Given the description of an element on the screen output the (x, y) to click on. 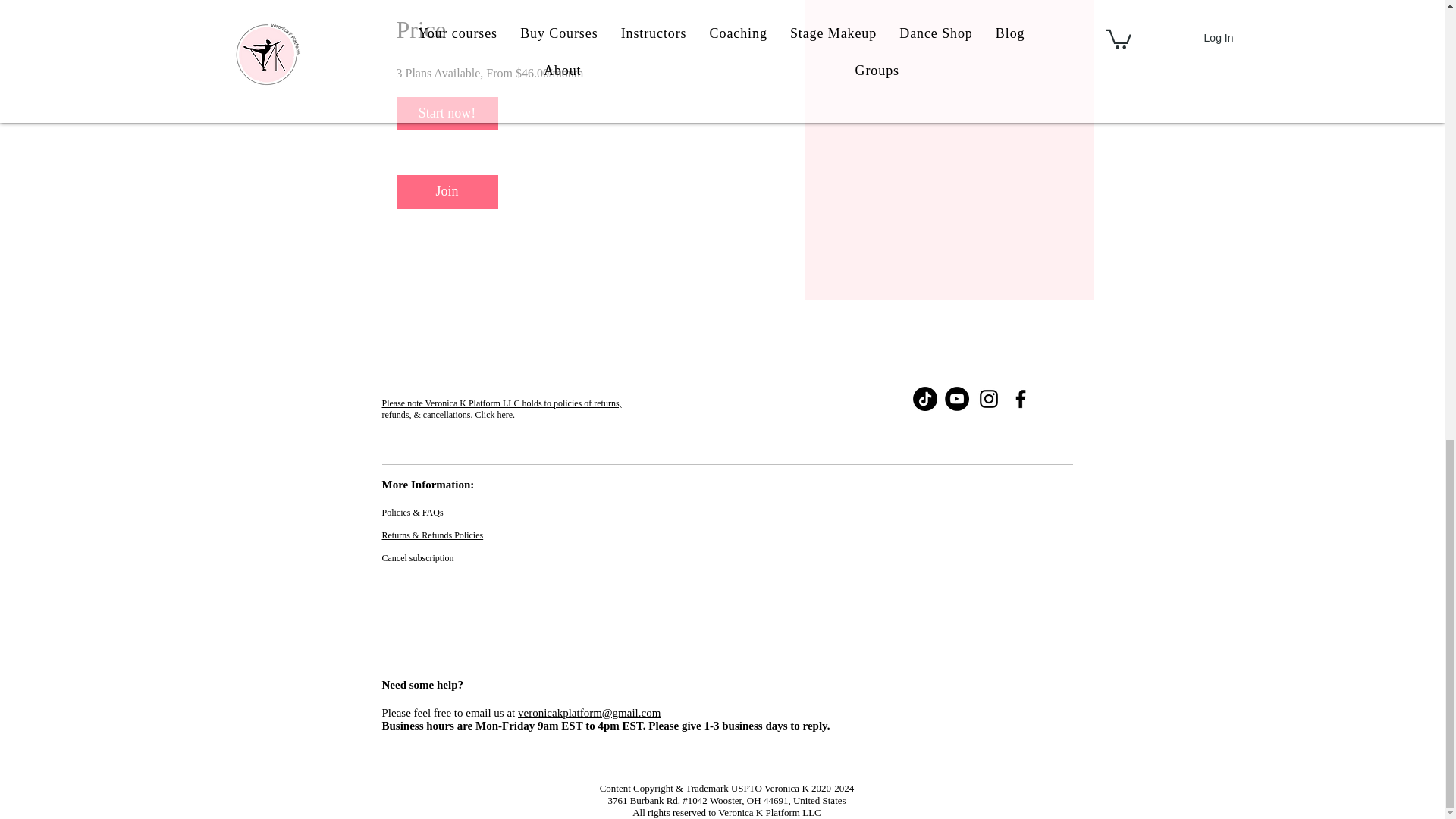
Join (446, 191)
Cancel subscription (417, 557)
Start now! (446, 113)
